Given the description of an element on the screen output the (x, y) to click on. 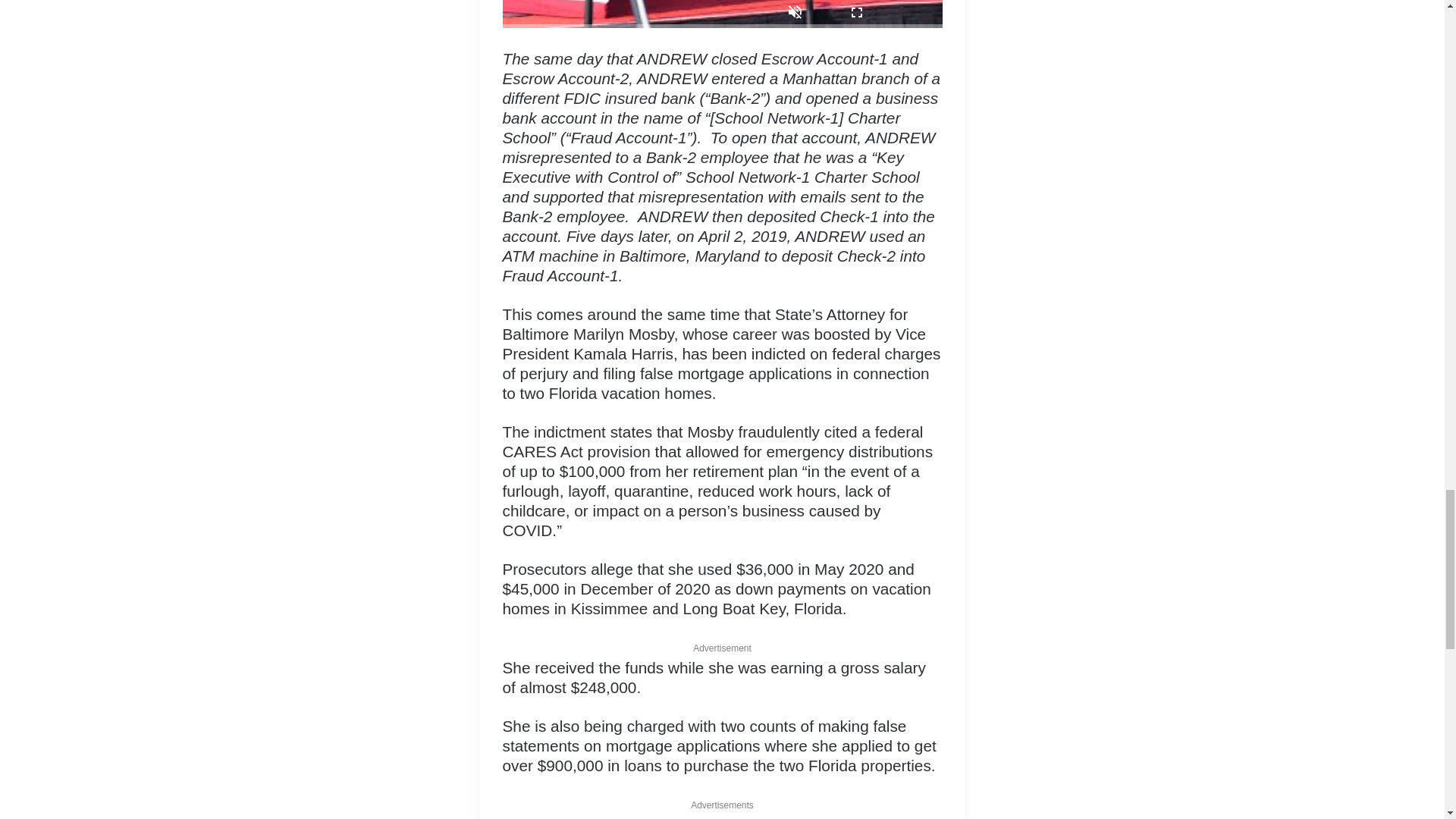
Unmute (793, 14)
Unmute (793, 14)
